Given the description of an element on the screen output the (x, y) to click on. 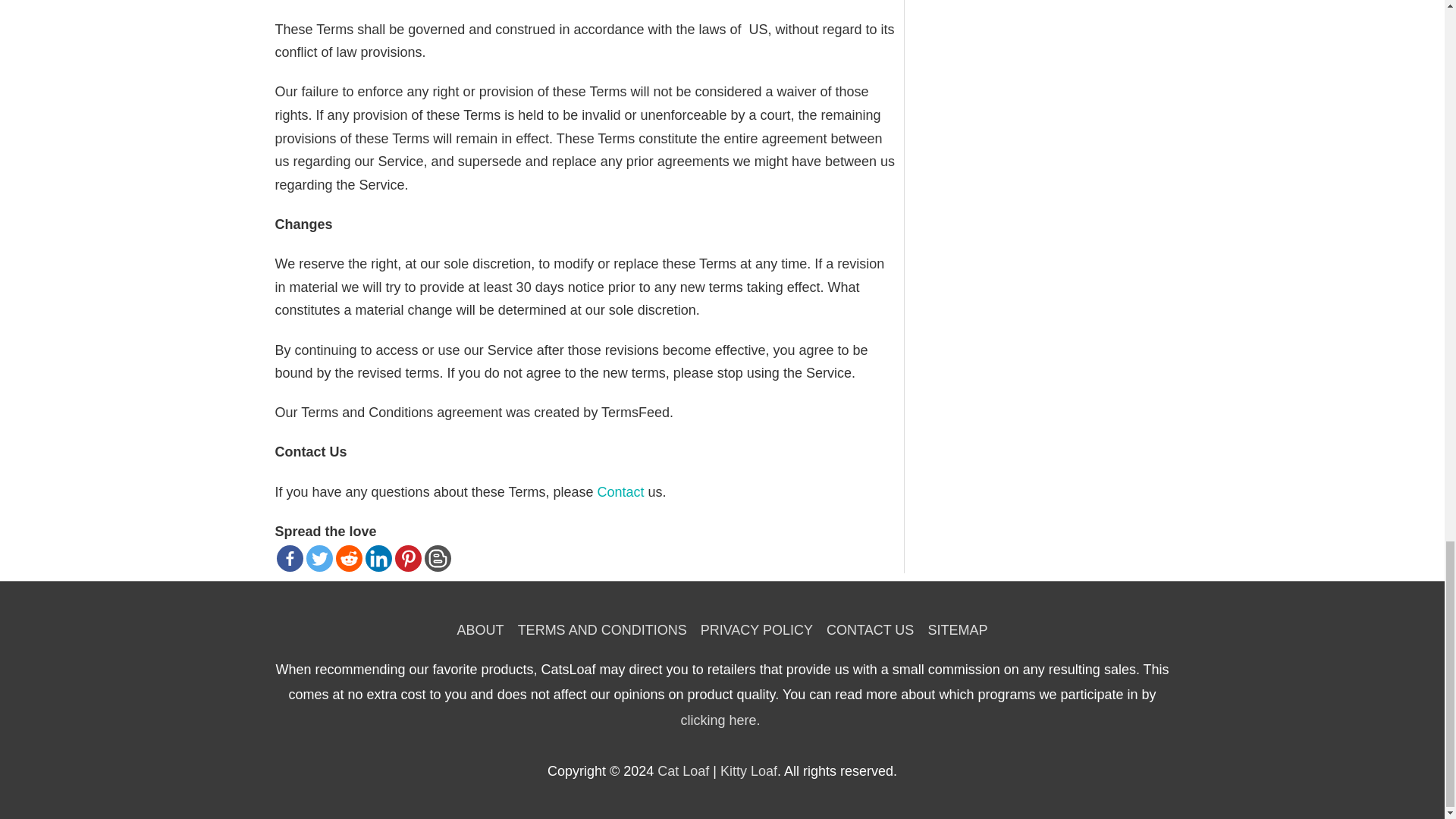
Cat Loaf (683, 770)
ABOUT (484, 630)
Blogger Post (438, 558)
Contact (619, 491)
Facebook (289, 558)
Twitter (319, 558)
CONTACT US (869, 630)
Pinterest (407, 558)
PRIVACY POLICY (756, 630)
Reddit (347, 558)
SITEMAP (953, 630)
Linkedin (378, 558)
clicking here. (719, 720)
TERMS AND CONDITIONS (602, 630)
Kitty Loaf (748, 770)
